Given the description of an element on the screen output the (x, y) to click on. 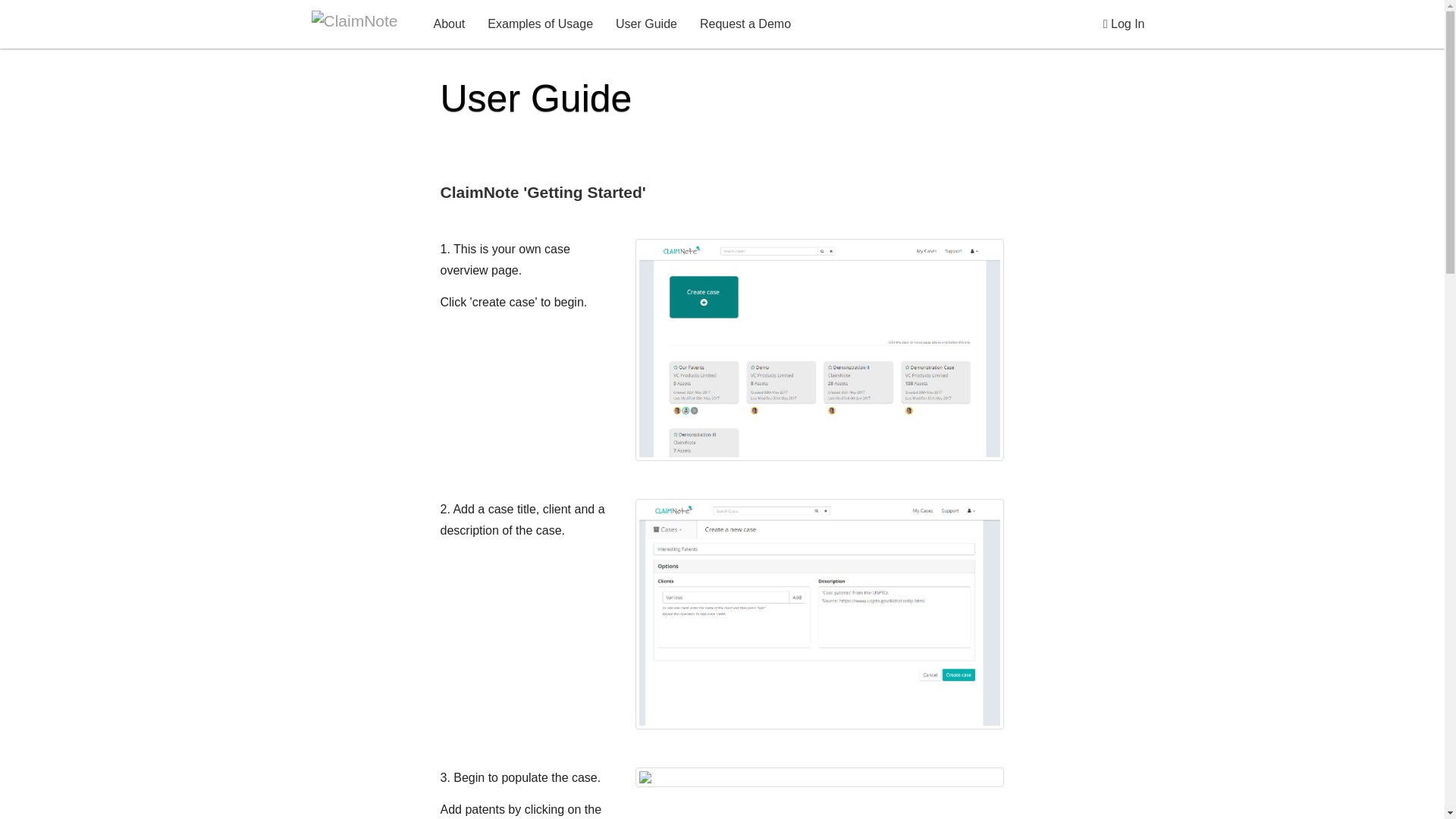
Request a Demo (745, 23)
ClaimNote (360, 19)
Examples of Usage (540, 23)
User Guide (646, 23)
Log In (1124, 23)
About (449, 23)
